Given the description of an element on the screen output the (x, y) to click on. 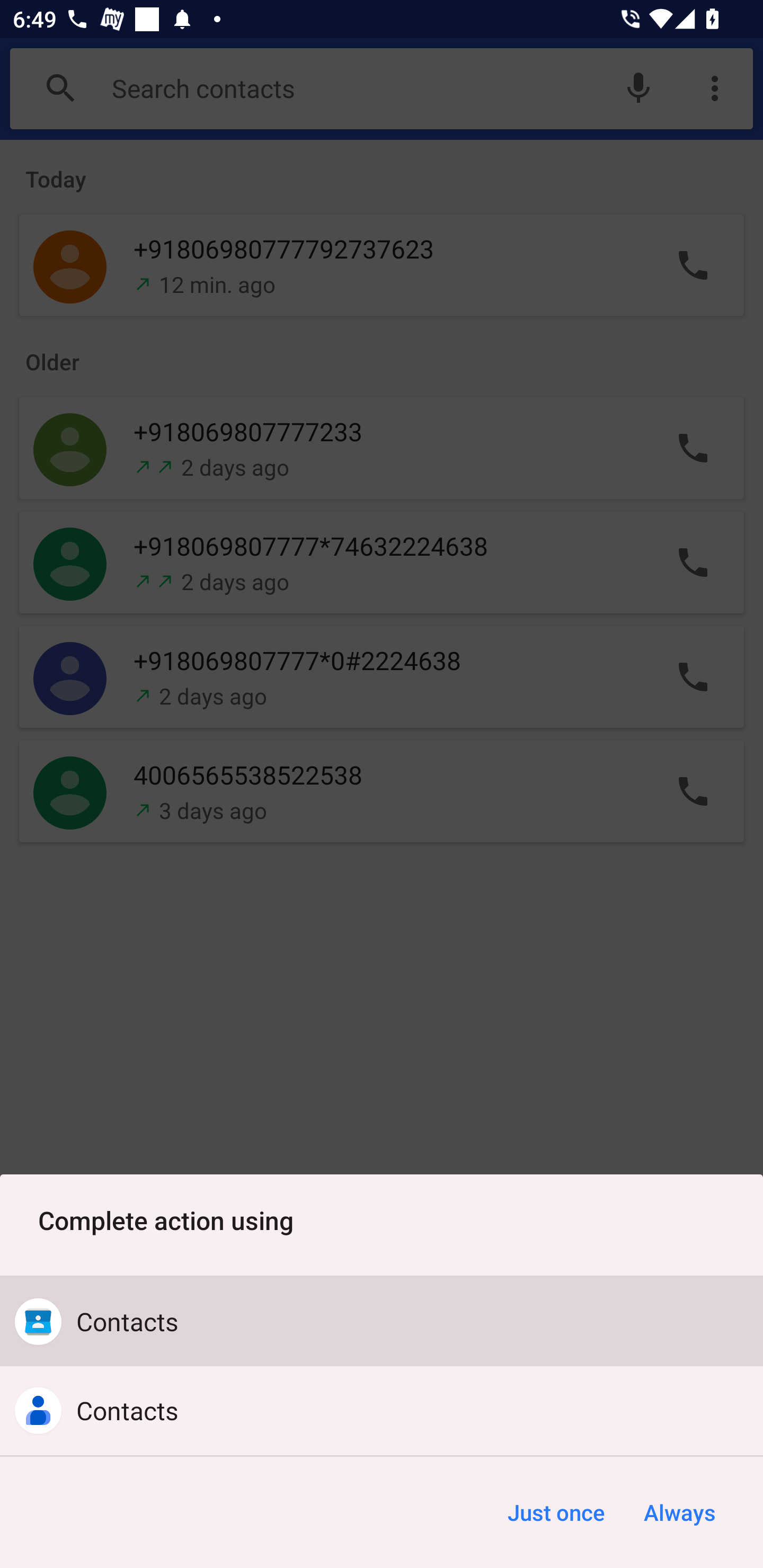
Contacts (381, 1321)
Contacts (381, 1410)
Just once (556, 1512)
Always (679, 1512)
